Given the description of an element on the screen output the (x, y) to click on. 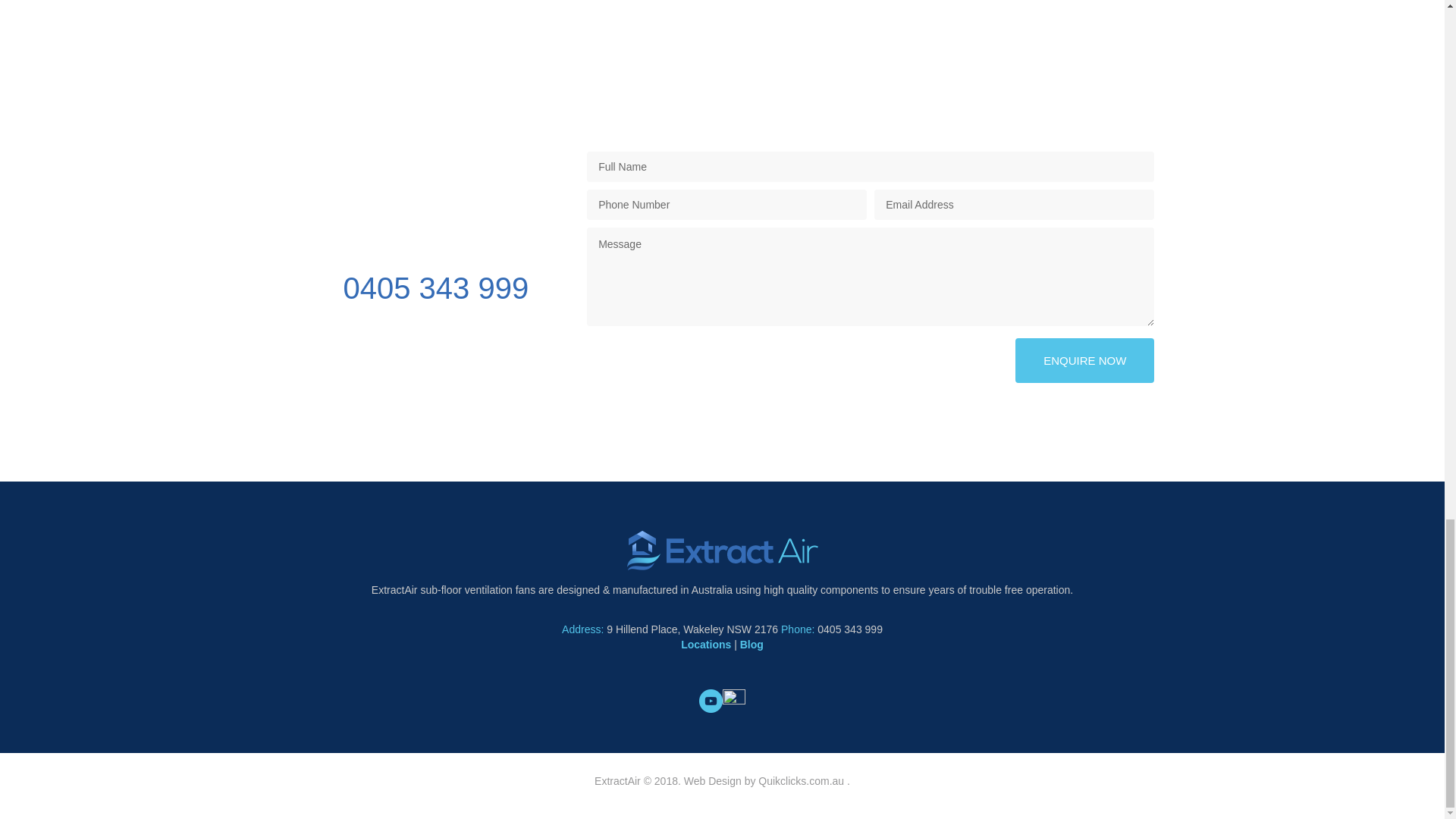
Enquire Now (1084, 360)
9 Hillend Place, Wakeley NSW 2176 (692, 629)
0405 343 999 (849, 629)
Enquire Now (1084, 360)
Locations (705, 644)
0405 343 999 (408, 287)
Blog (750, 644)
